Given the description of an element on the screen output the (x, y) to click on. 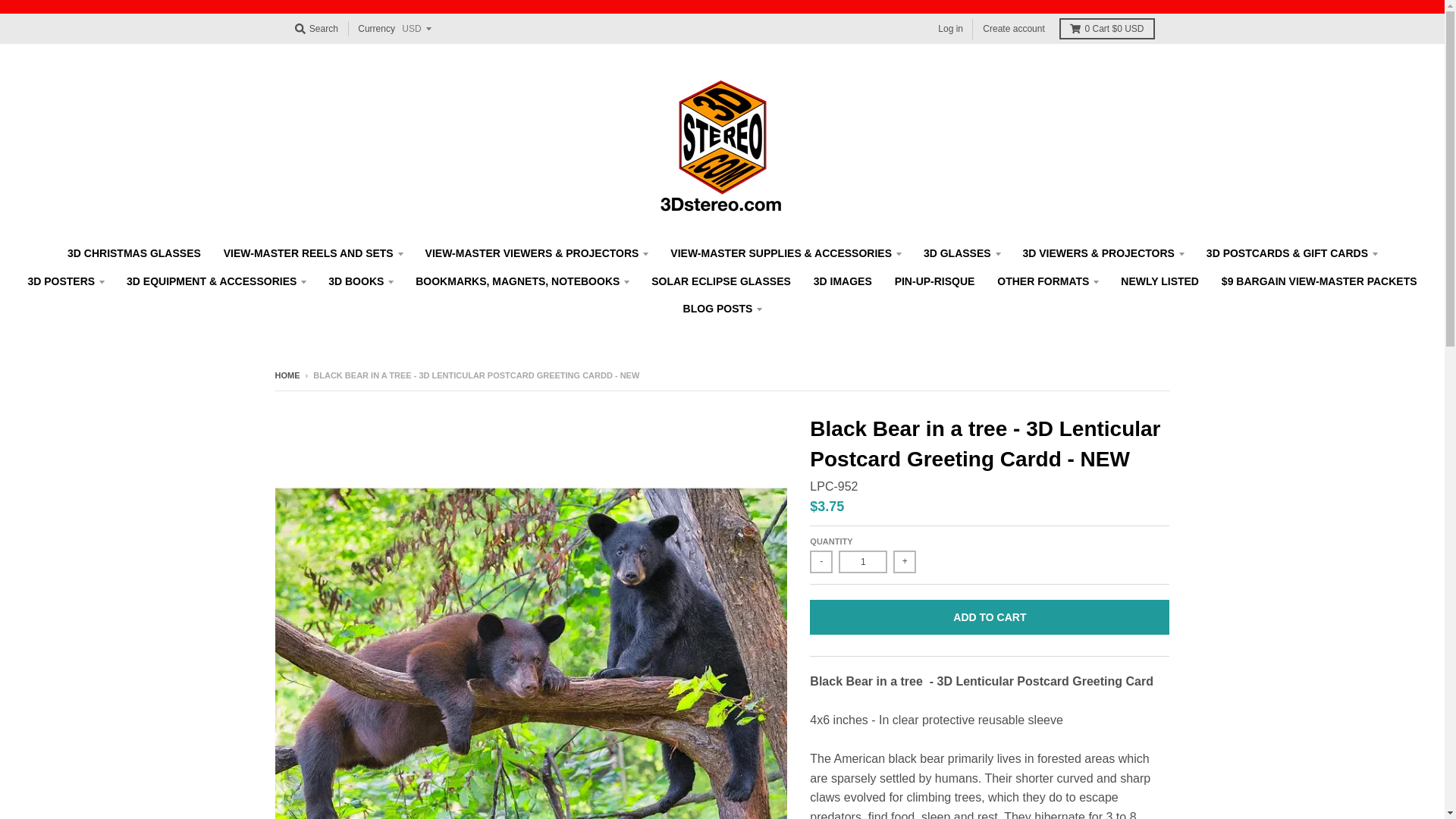
3D CHRISTMAS GLASSES (134, 252)
Back to the frontpage (287, 375)
Log in (950, 28)
Search (315, 28)
Create account (1013, 28)
1 (862, 561)
VIEW-MASTER REELS AND SETS (313, 252)
